Given the description of an element on the screen output the (x, y) to click on. 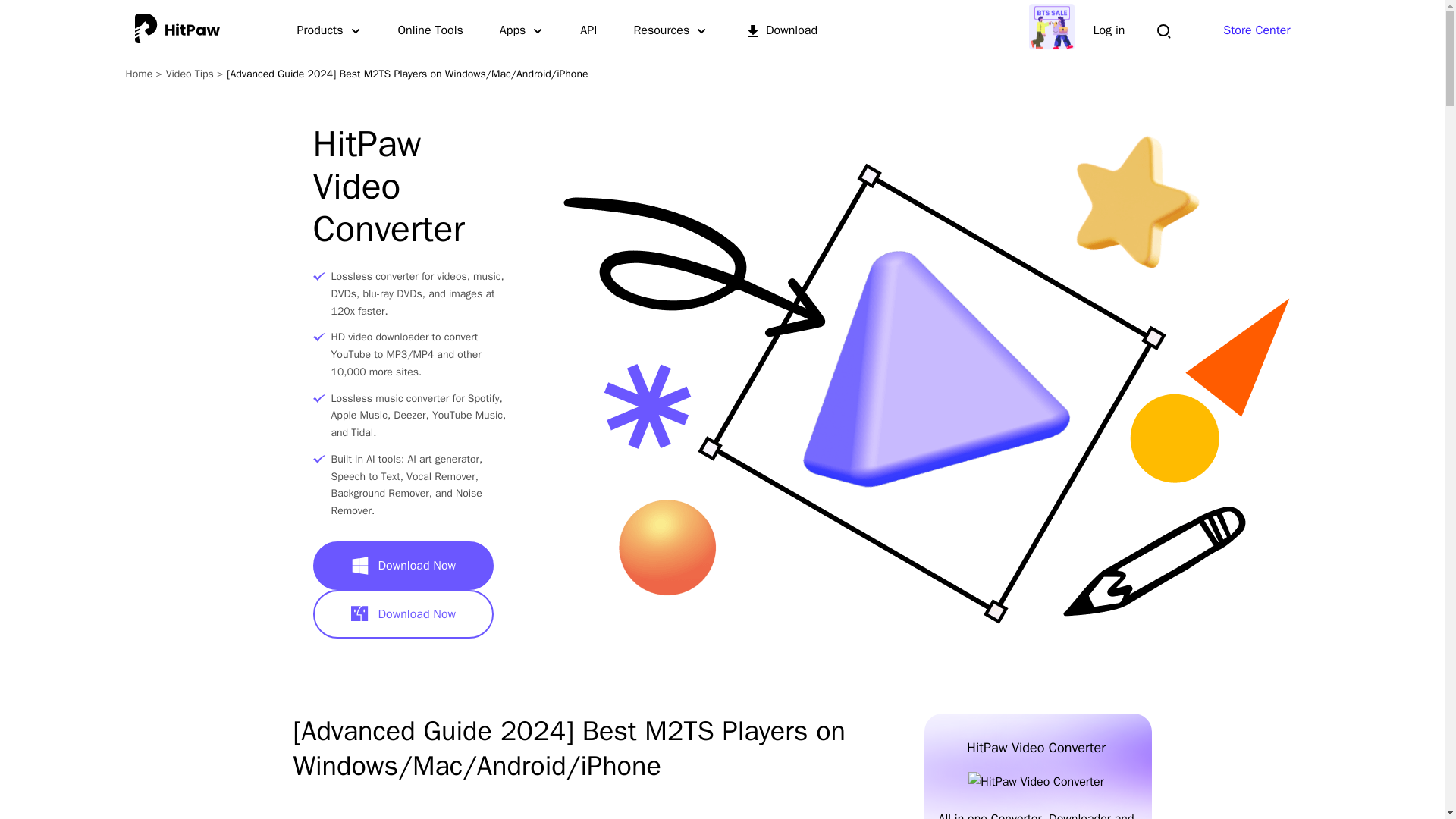
Products (329, 30)
Log in (1108, 30)
Store Center (1256, 30)
